Given the description of an element on the screen output the (x, y) to click on. 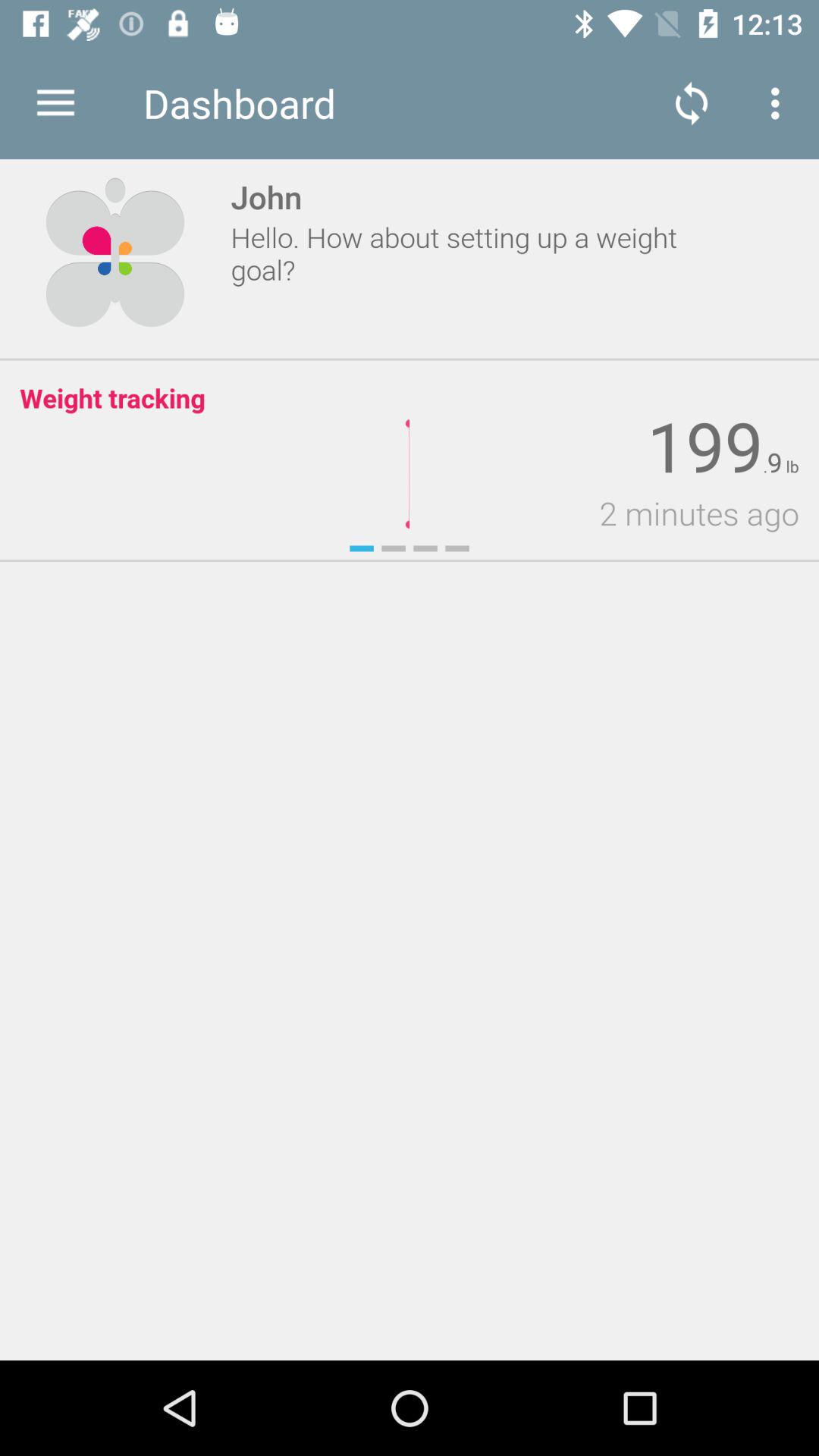
turn off weight tracking (112, 397)
